Given the description of an element on the screen output the (x, y) to click on. 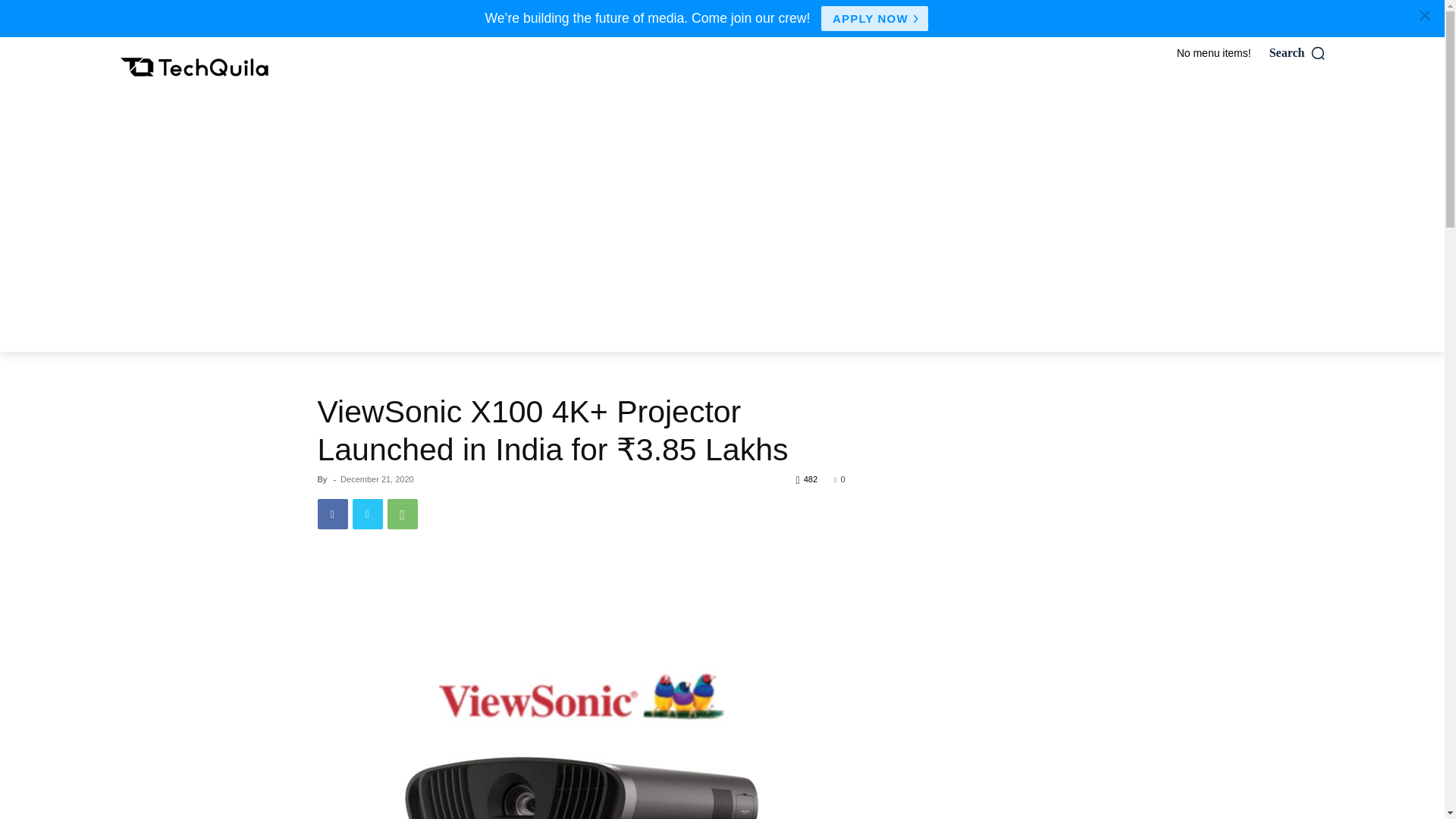
0 (839, 479)
APPLY NOW (874, 18)
WhatsApp (401, 513)
Twitter (366, 513)
Facebook (332, 513)
Search (1297, 53)
